Given the description of an element on the screen output the (x, y) to click on. 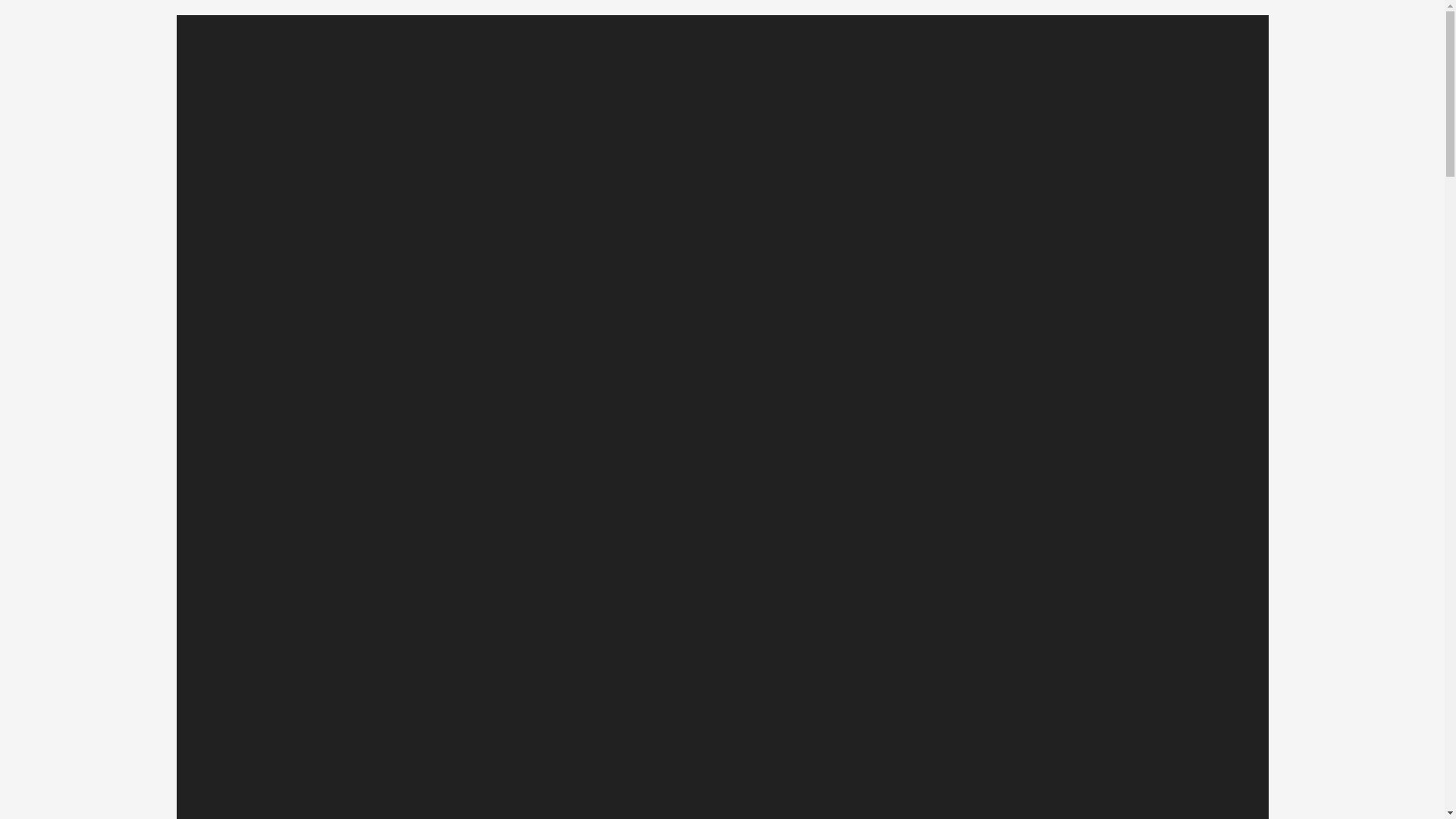
Work (962, 60)
Design Stack (372, 63)
Back to overview (545, 509)
Twitter (1024, 764)
Sign up (1061, 741)
Pinterest (998, 764)
Facebook (970, 764)
Instagram (1052, 764)
Sign up (1061, 741)
About (1048, 60)
